Given the description of an element on the screen output the (x, y) to click on. 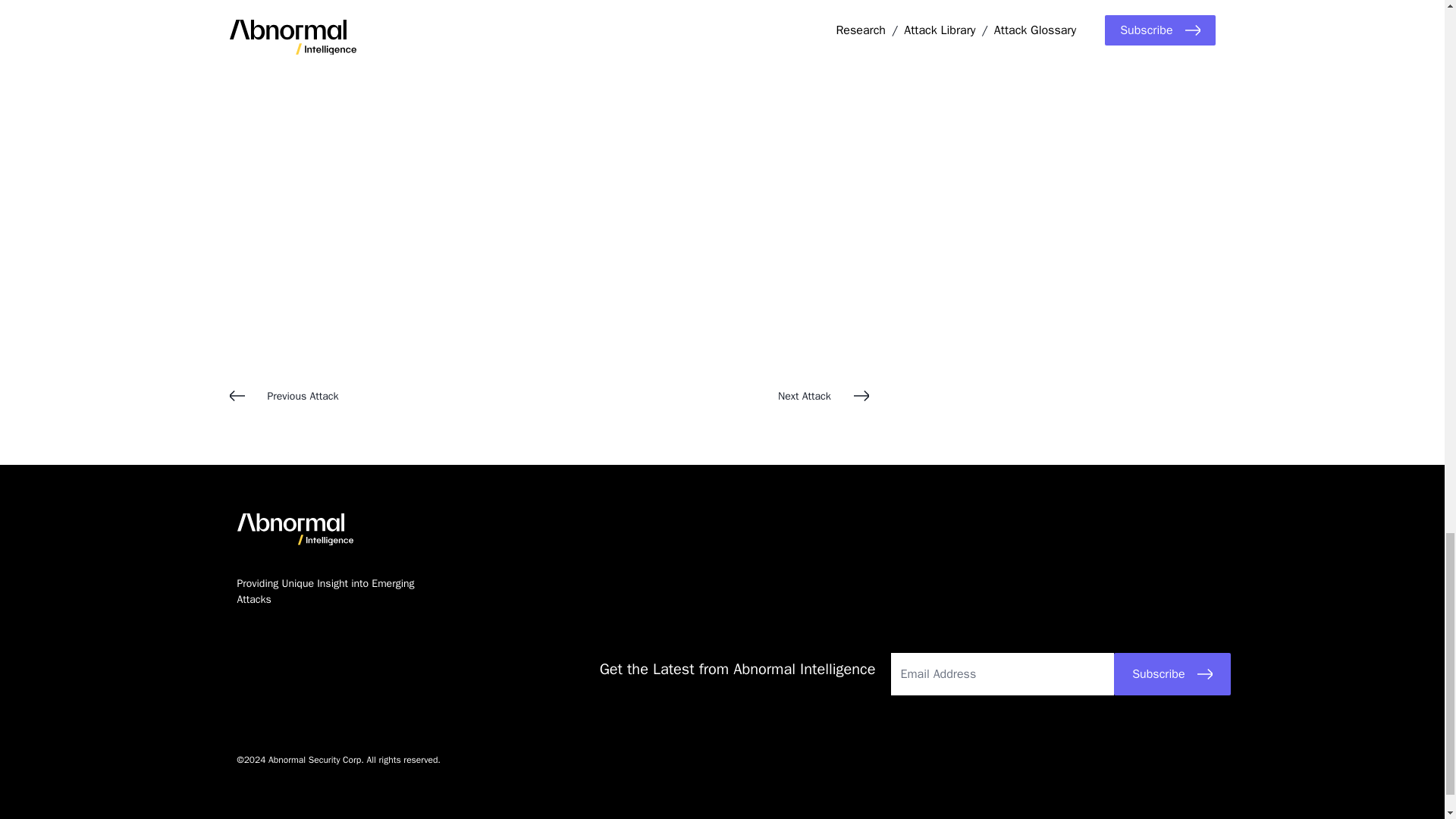
Next Attack (708, 396)
Previous Attack (388, 396)
Subscribe (1171, 673)
